Given the description of an element on the screen output the (x, y) to click on. 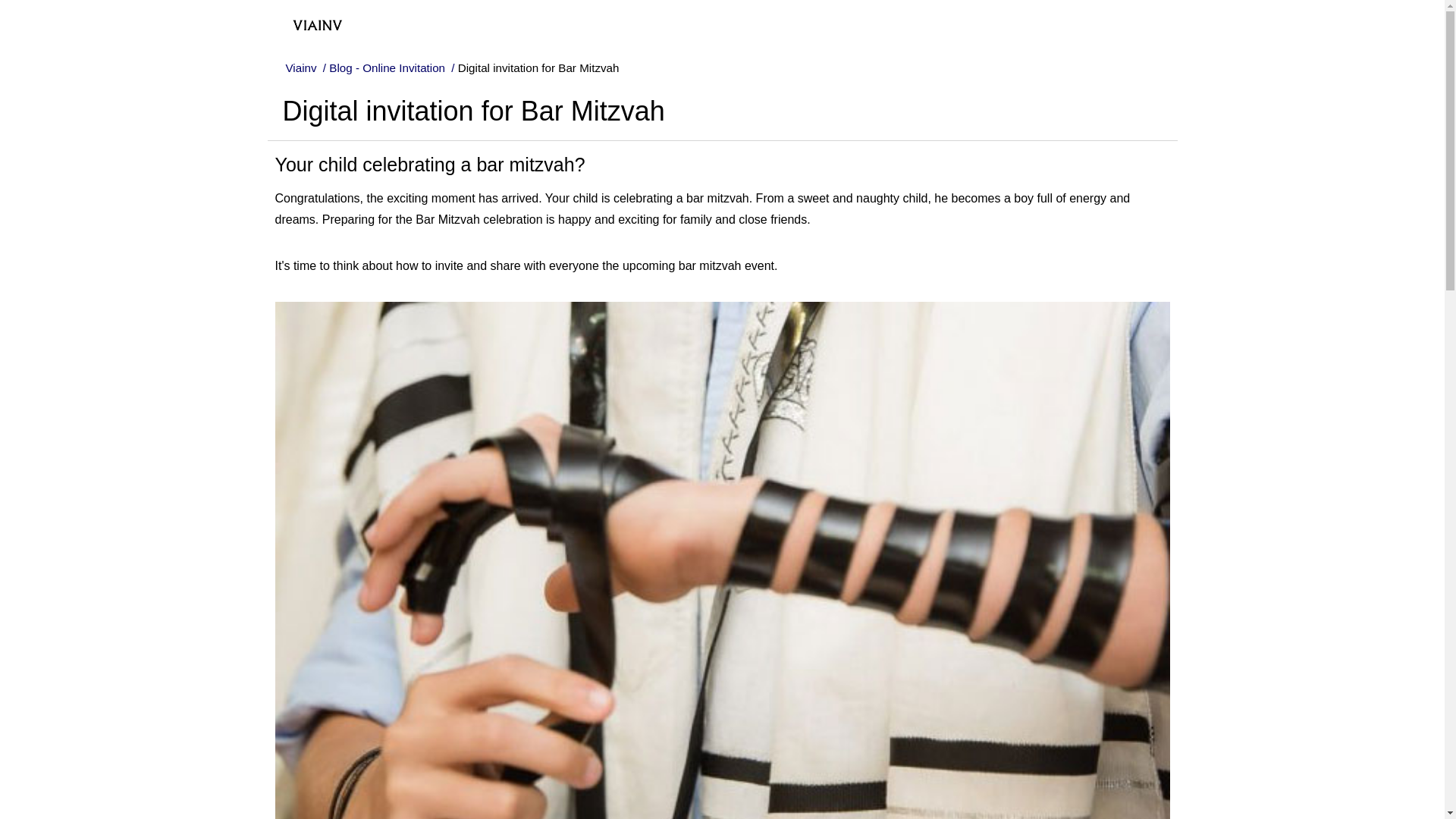
Online Invitation. No Printing. No Paper. Just a web page. (304, 18)
Blog - Online Invitation (388, 67)
Viainv (301, 67)
